Given the description of an element on the screen output the (x, y) to click on. 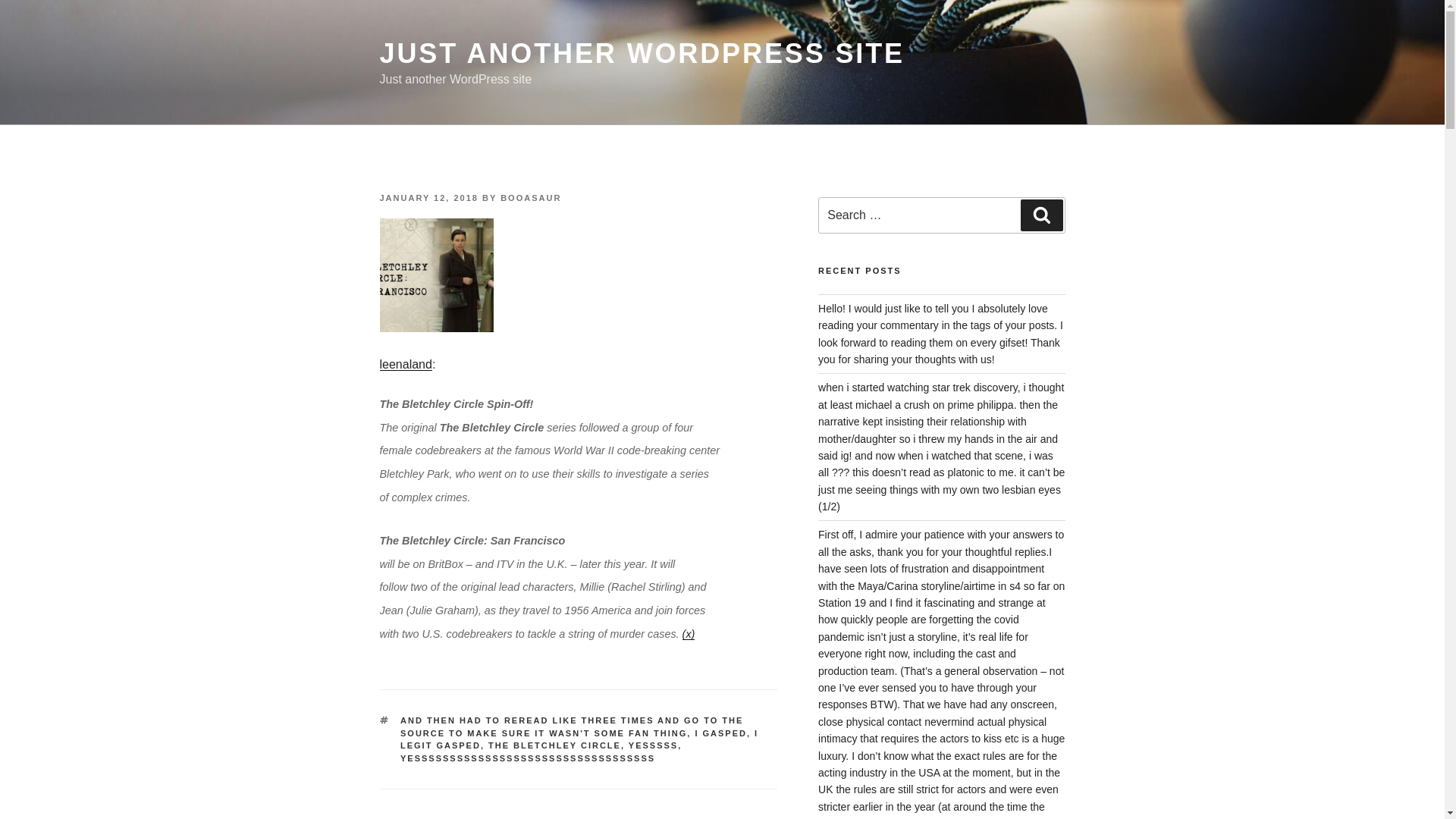
JANUARY 12, 2018 (427, 197)
YESSSSS (653, 745)
JUST ANOTHER WORDPRESS SITE (641, 52)
leenaland (404, 364)
Search (1041, 214)
BOOASAUR (530, 197)
THE BLETCHLEY CIRCLE (554, 745)
I GASPED (720, 732)
